Given the description of an element on the screen output the (x, y) to click on. 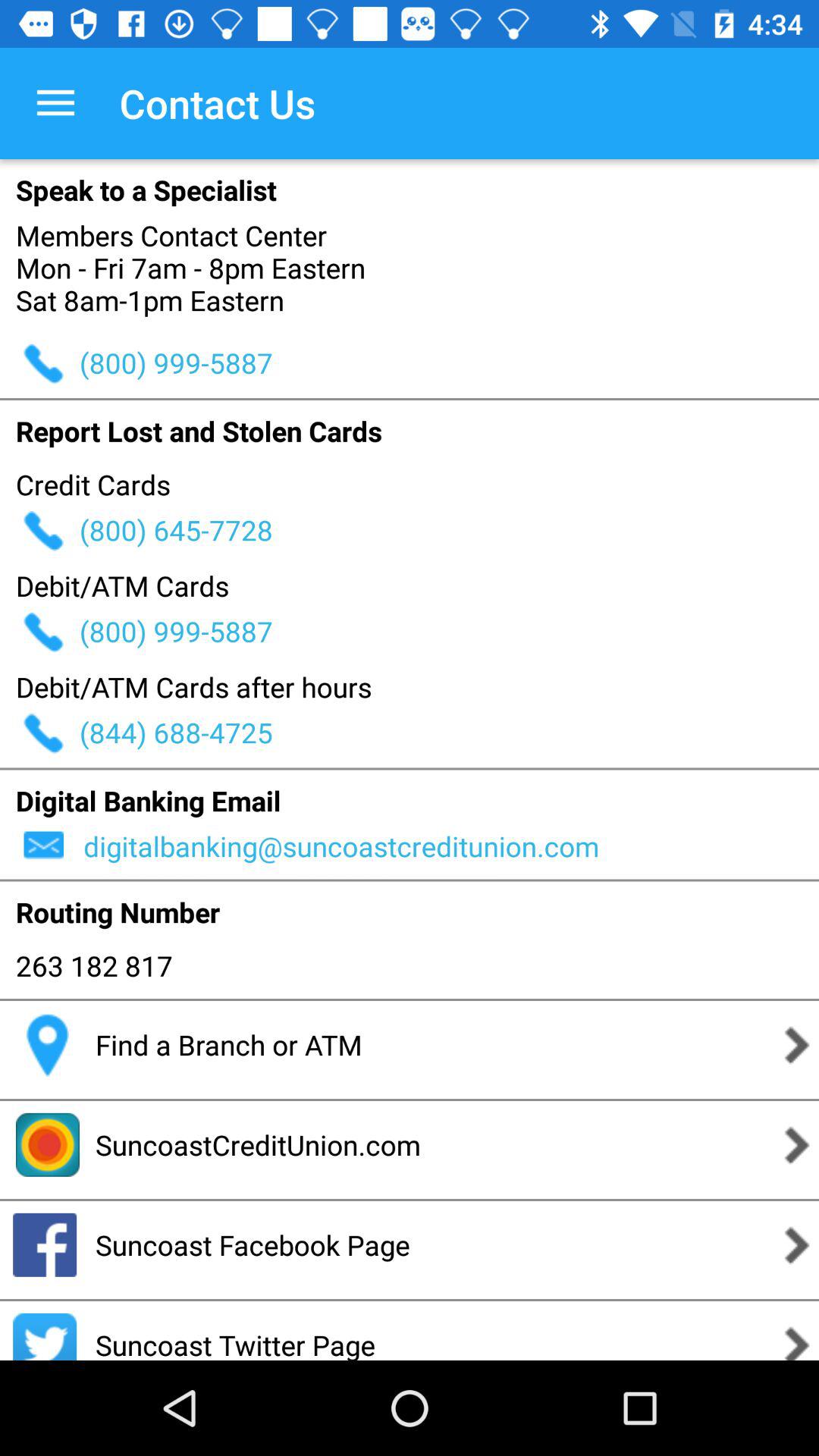
press icon below digital banking email (449, 846)
